Given the description of an element on the screen output the (x, y) to click on. 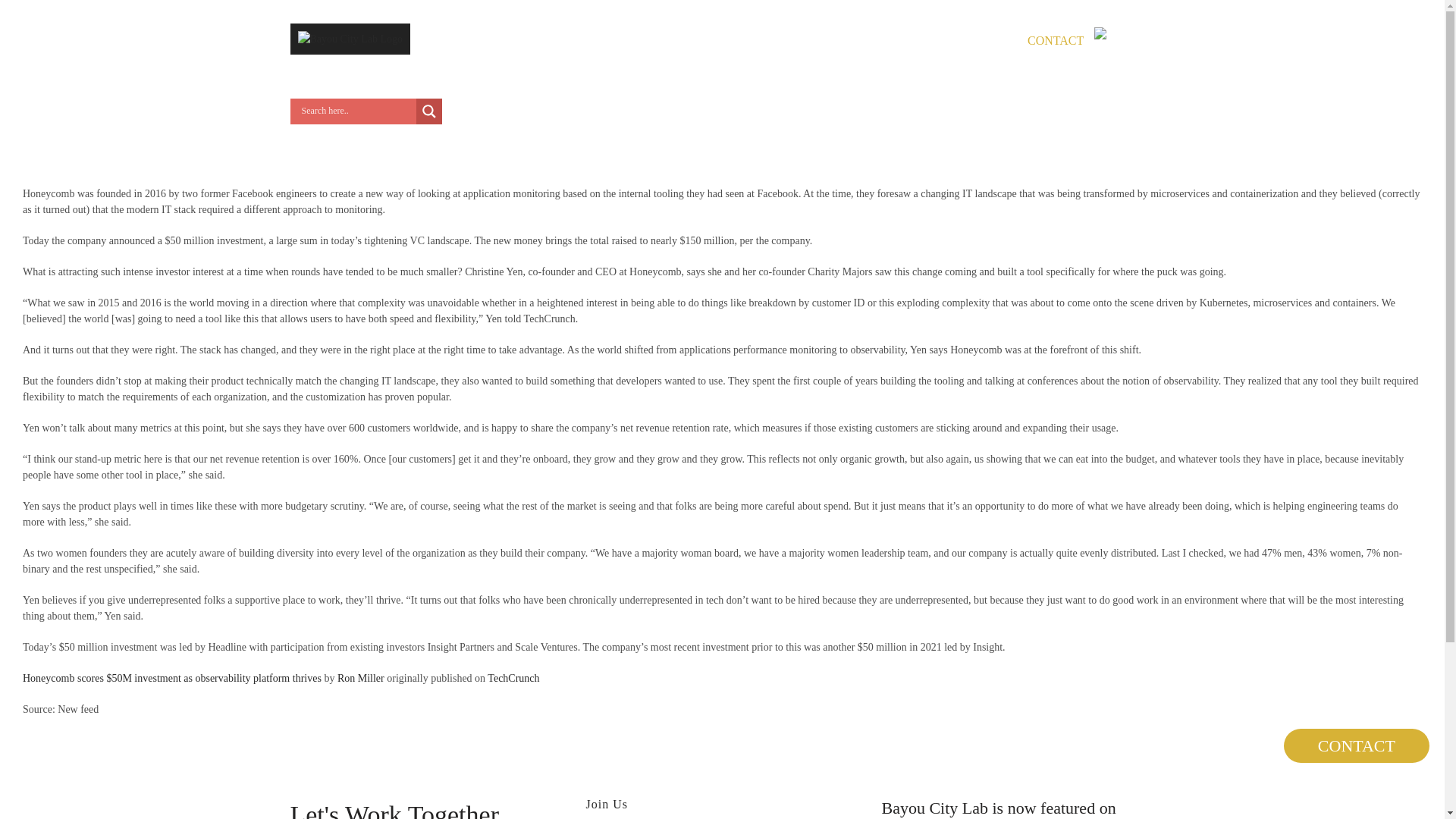
TechCrunch (512, 677)
Ron Miller (360, 677)
CONTACT (1066, 40)
CONTACT (1356, 745)
